Given the description of an element on the screen output the (x, y) to click on. 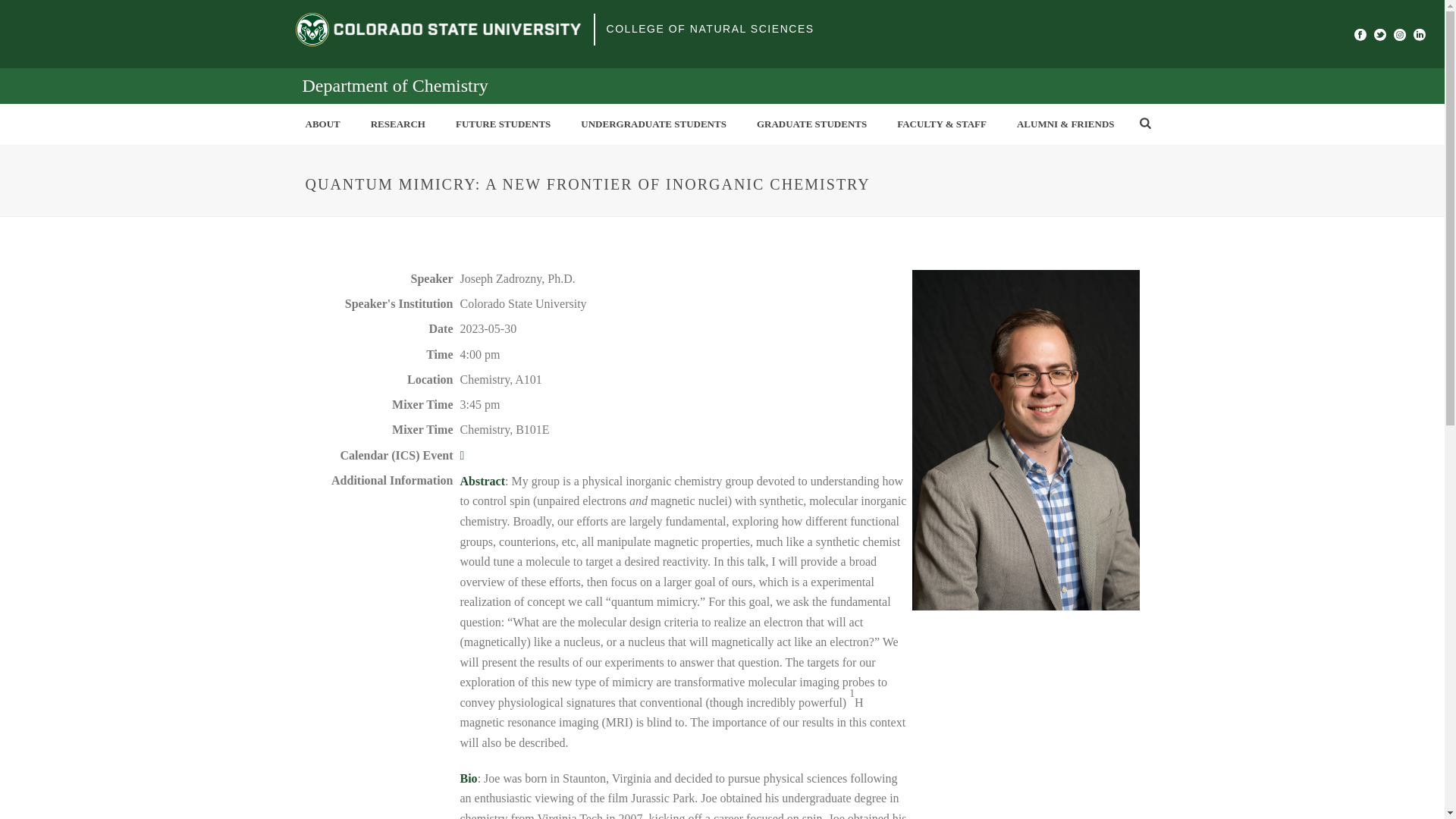
GRADUATE STUDENTS (811, 124)
Toggle Search Options (1145, 123)
FUTURE STUDENTS (503, 124)
Colorado State University (438, 29)
UNDERGRADUATE STUDENTS (653, 124)
Department of Chemistry (394, 85)
ABOUT (322, 124)
COLLEGE OF NATURAL SCIENCES (710, 29)
ICS Export of Seminar (462, 454)
ABOUT (322, 124)
FUTURE STUDENTS (503, 124)
RESEARCH (398, 124)
RESEARCH (398, 124)
UNDERGRADUATE STUDENTS (653, 124)
